Given the description of an element on the screen output the (x, y) to click on. 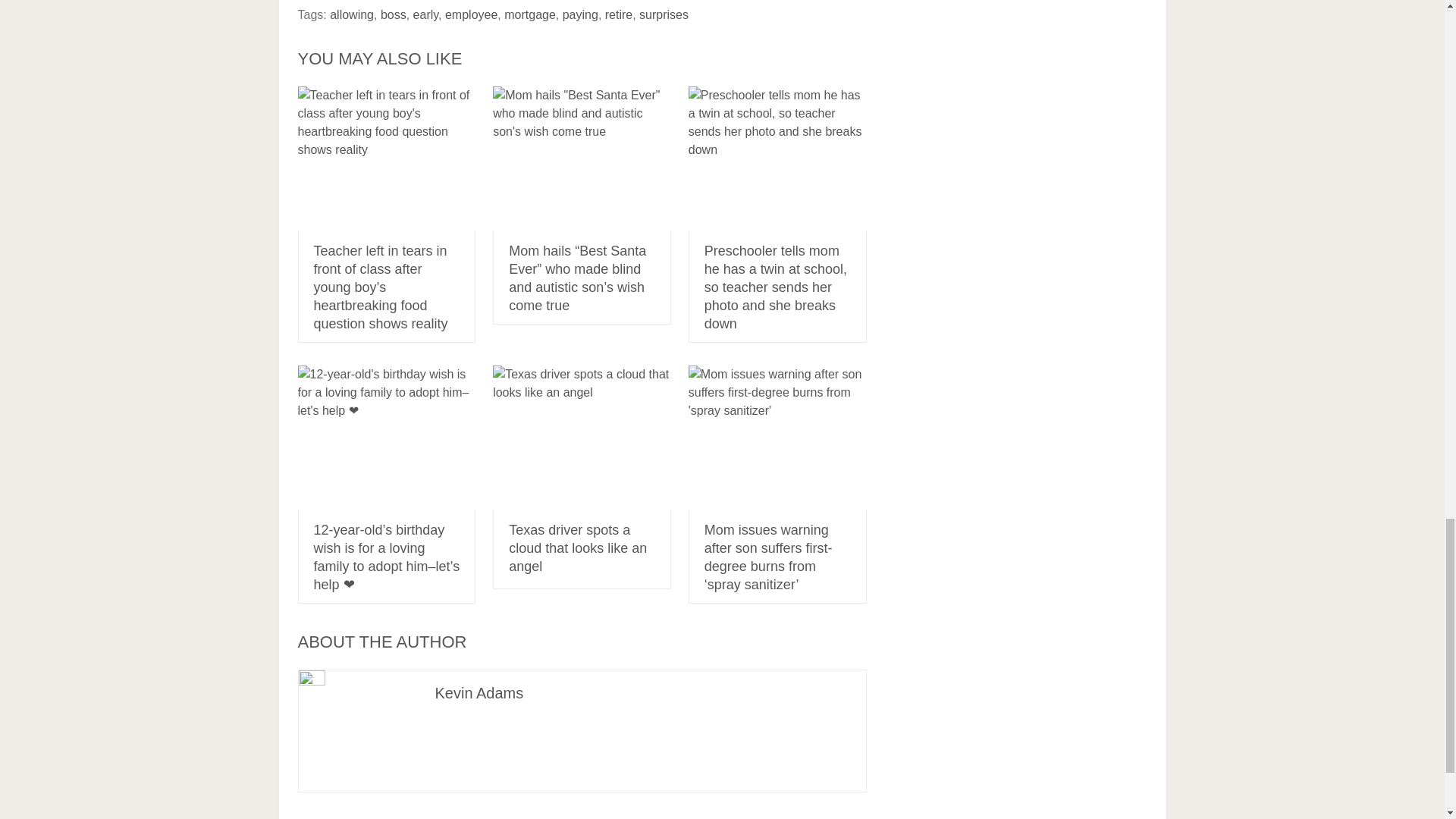
early (426, 14)
mortgage (529, 14)
employee (471, 14)
paying (580, 14)
boss (393, 14)
surprises (663, 14)
retire (618, 14)
allowing (352, 14)
